Given the description of an element on the screen output the (x, y) to click on. 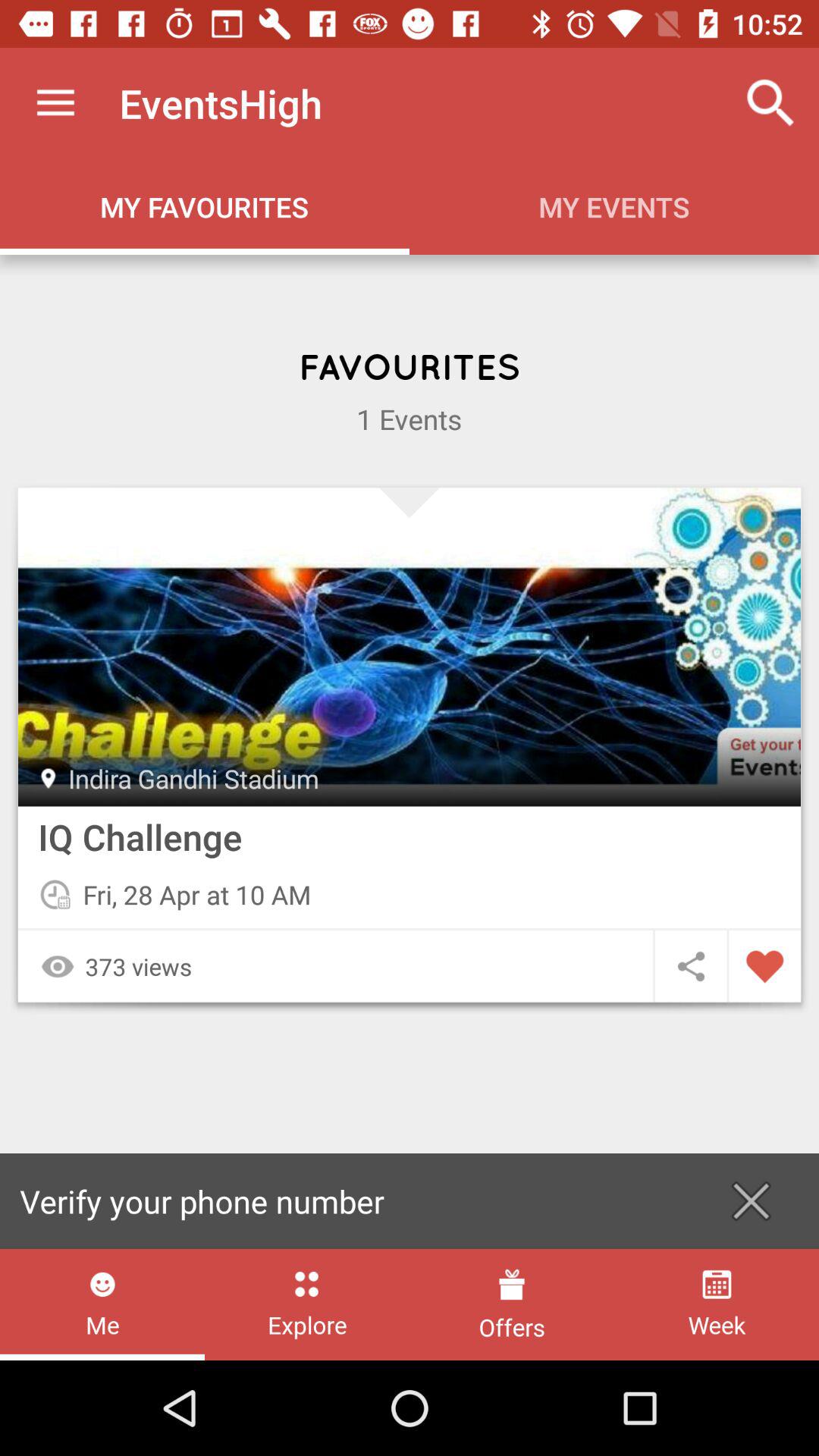
tap the icon next to the week (511, 1304)
